Given the description of an element on the screen output the (x, y) to click on. 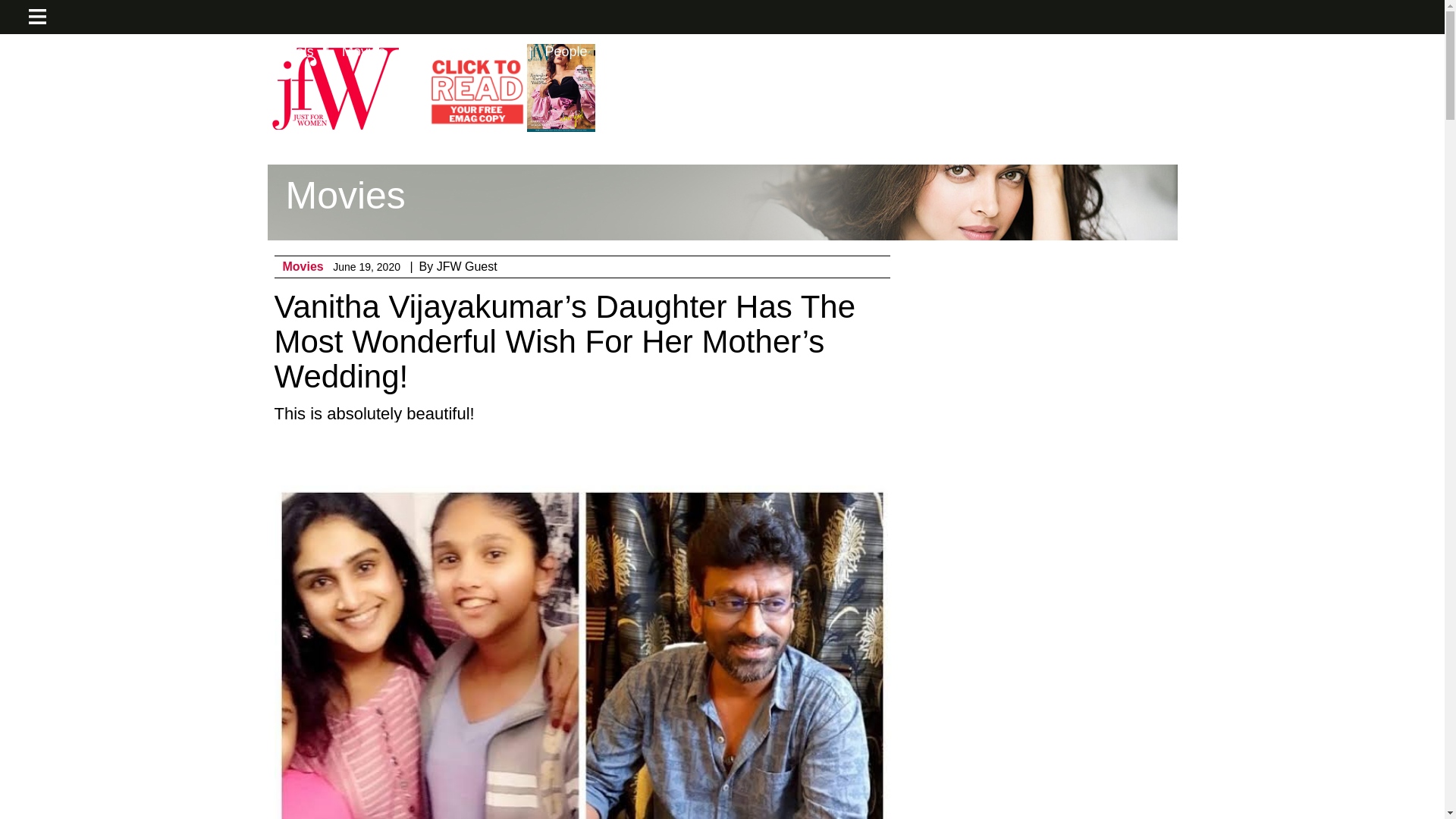
Movies (302, 266)
Fashion (76, 52)
Share with Friend (678, 456)
Movies (363, 52)
People (565, 52)
JFW Events (166, 52)
Movies (302, 266)
JFW Originals (271, 52)
